Given the description of an element on the screen output the (x, y) to click on. 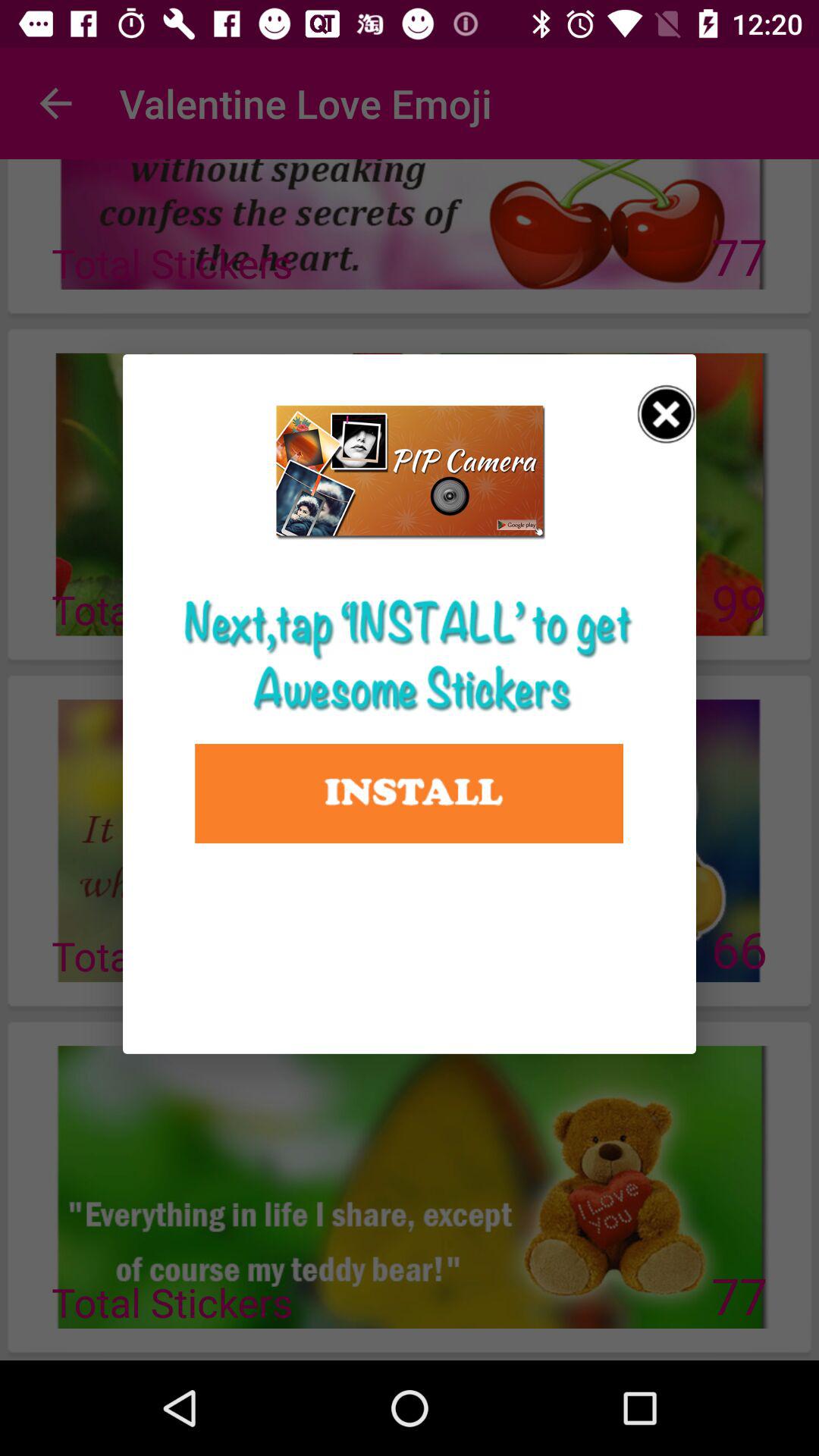
install app (409, 793)
